Given the description of an element on the screen output the (x, y) to click on. 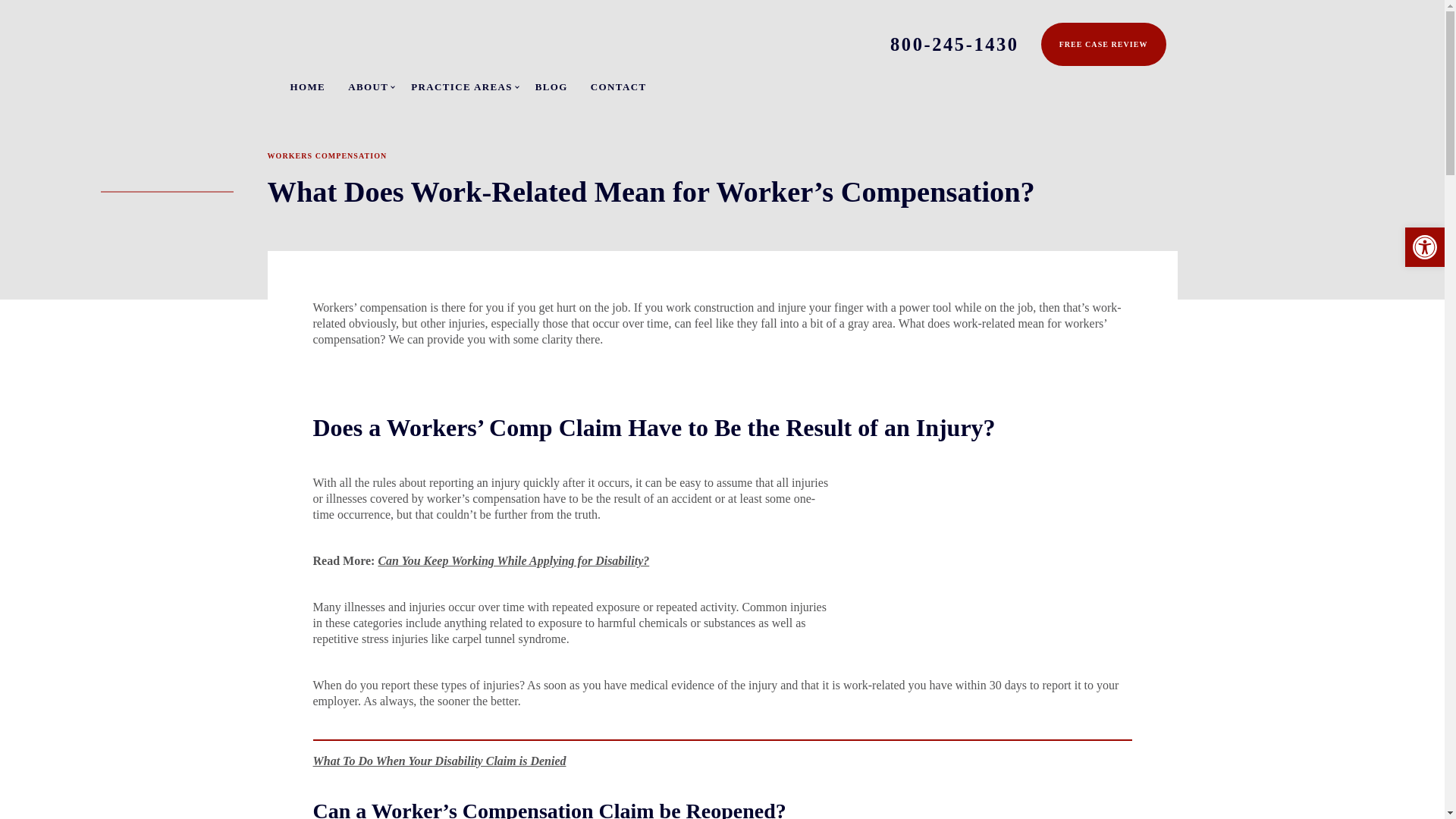
CONTACT (618, 86)
800-245-1430 (954, 43)
PRACTICE AREAS (461, 86)
ABOUT (367, 86)
WORKERS COMPENSATION (326, 155)
Accessibility Tools (1424, 247)
BLOG (551, 86)
HOME (306, 86)
FREE CASE REVIEW (1103, 44)
Can You Keep Working While Applying for Disability? (513, 560)
